Given the description of an element on the screen output the (x, y) to click on. 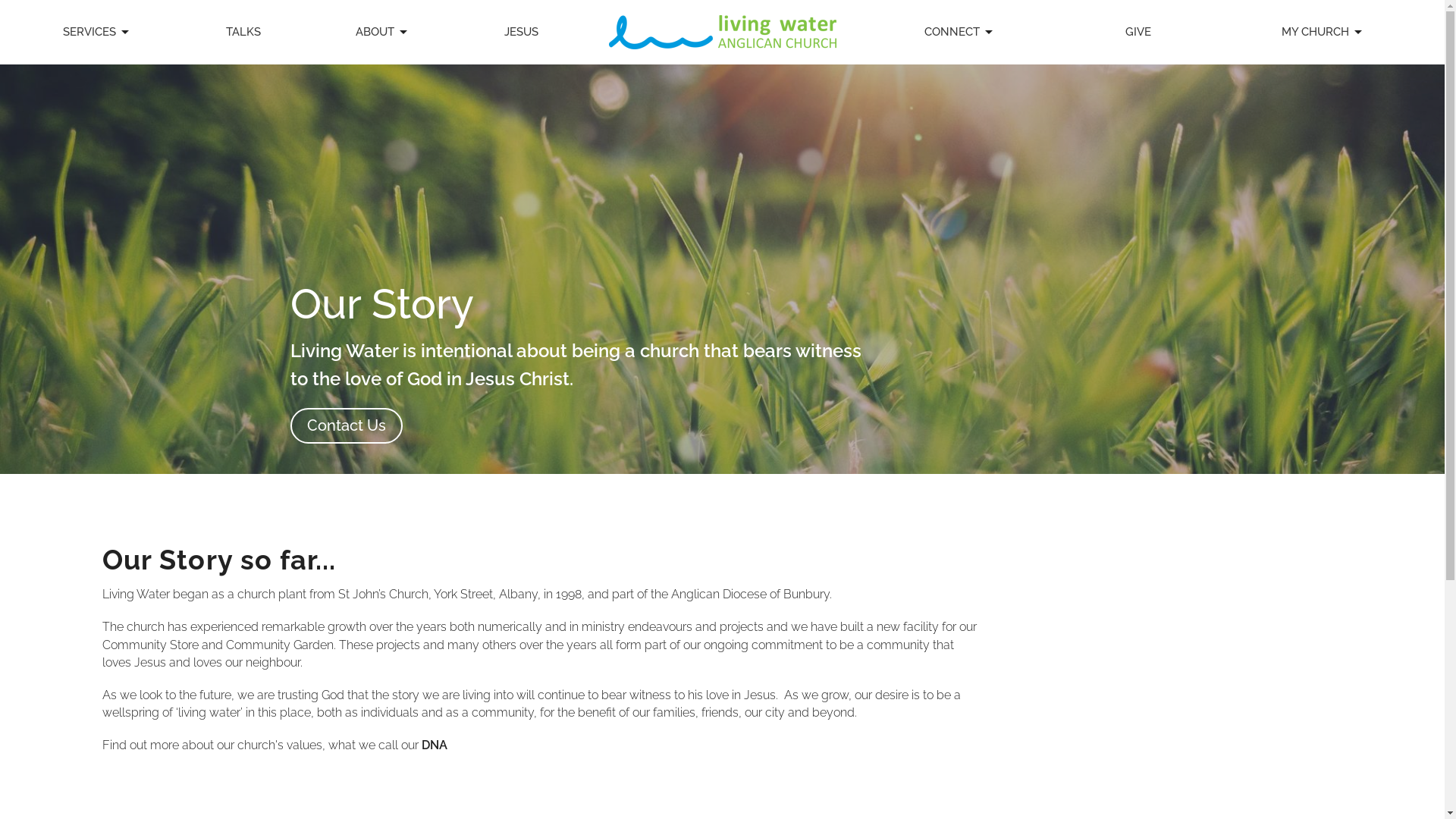
TALKS Element type: text (242, 31)
GIVE Element type: text (1138, 31)
Contact Us Element type: text (345, 425)
CONNECT Element type: text (959, 31)
JESUS Element type: text (521, 31)
SERVICES Element type: text (96, 31)
ABOUT Element type: text (382, 31)
MY CHURCH Element type: text (1322, 31)
DNA Element type: text (434, 744)
